Given the description of an element on the screen output the (x, y) to click on. 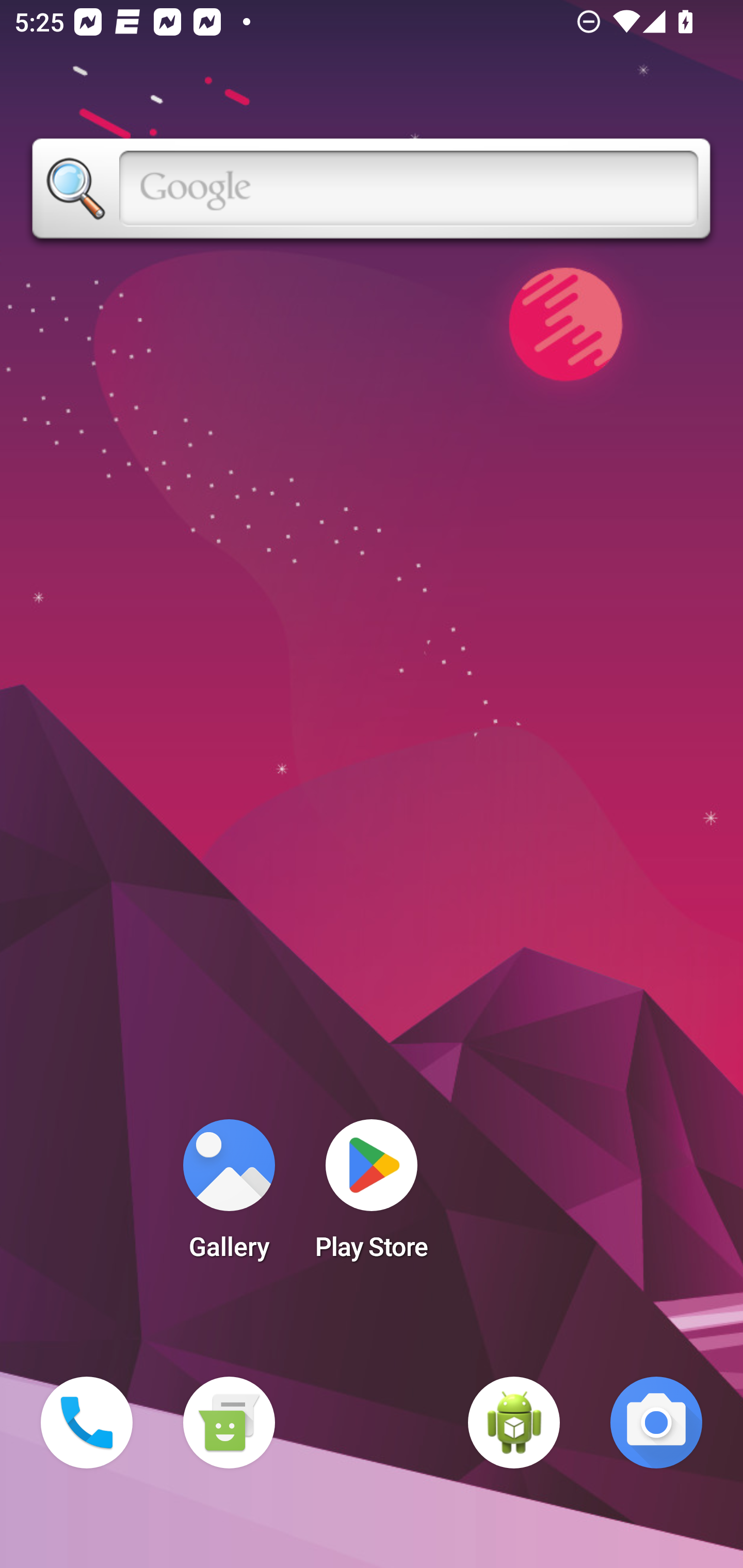
Gallery (228, 1195)
Play Store (371, 1195)
Phone (86, 1422)
Messaging (228, 1422)
WebView Browser Tester (513, 1422)
Camera (656, 1422)
